Given the description of an element on the screen output the (x, y) to click on. 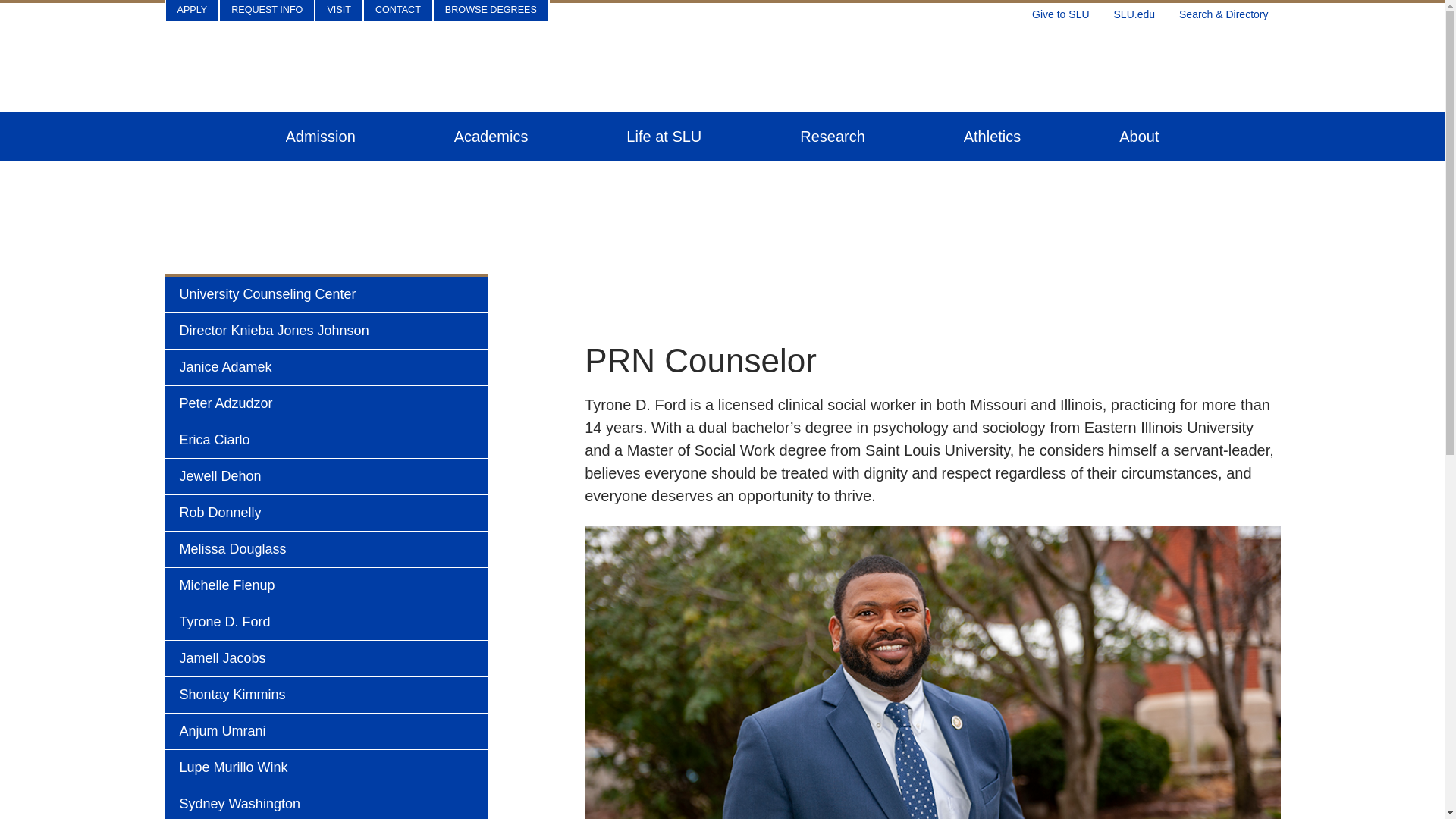
Tyrone D. Ford (325, 621)
About (1138, 135)
Admission (320, 135)
Admission to SLU (320, 135)
Rob Donnelly (325, 512)
University Counseling Center (325, 294)
About Saint Louis University (1138, 135)
Visit Saint Louis University (338, 10)
Melissa Douglass (325, 549)
CONTACT (398, 10)
Academics (491, 135)
Director Knieba Jones Johnson (325, 330)
Saint Louis University SLU Logo Home Main (721, 63)
Clickable Search Hourglass Icon (1229, 10)
SLU.edu home (1133, 10)
